Given the description of an element on the screen output the (x, y) to click on. 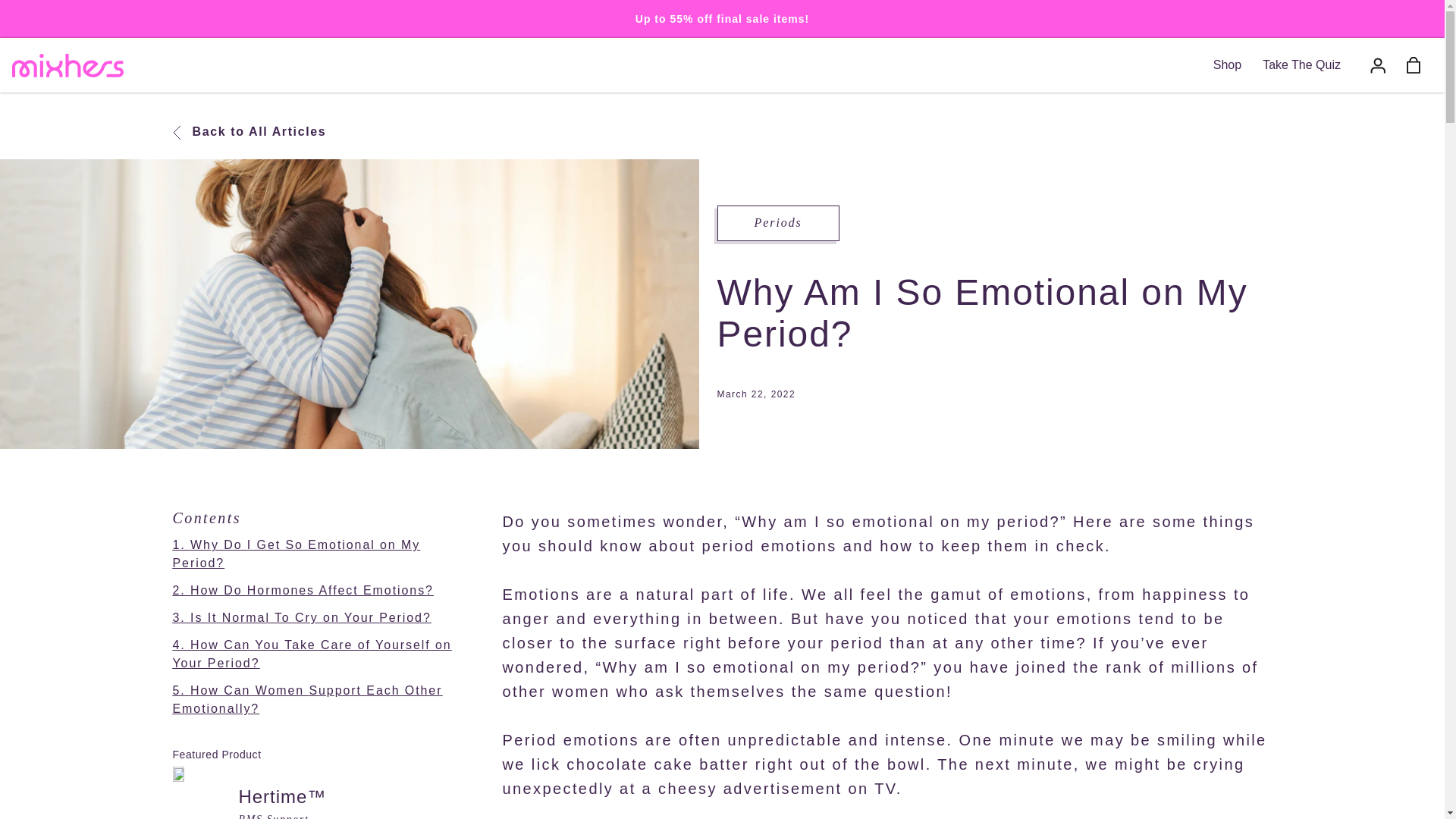
1. Why Do I Get So Emotional on My Period? (296, 553)
Shop (1227, 64)
4. How Can You Take Care of Yourself on Your Period? (312, 653)
Take The Quiz (1301, 64)
Back to All Articles (249, 131)
2. How Do Hormones Affect Emotions? (303, 590)
3. Is It Normal To Cry on Your Period? (301, 617)
5. How Can Women Support Each Other Emotionally? (307, 698)
